Given the description of an element on the screen output the (x, y) to click on. 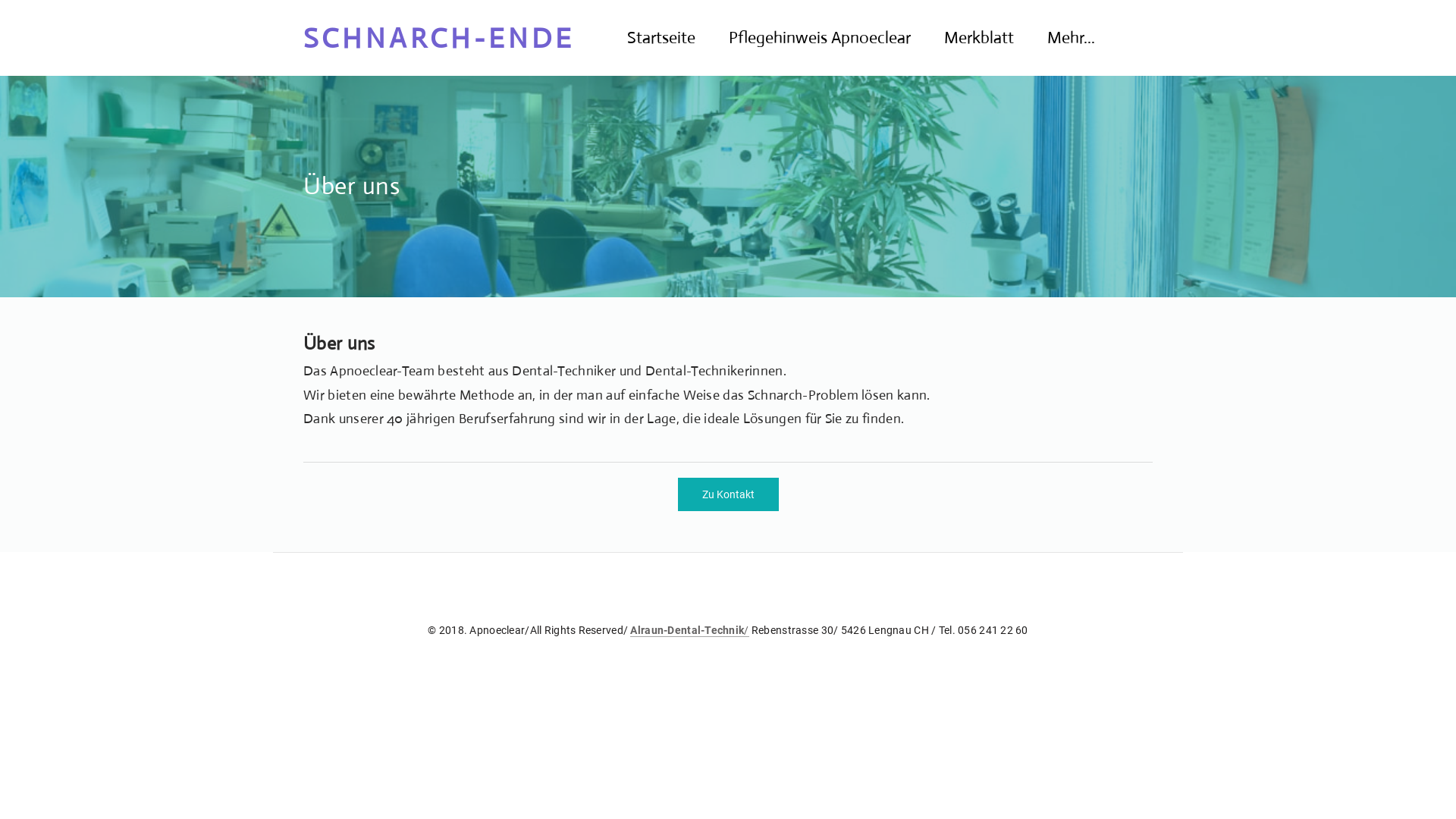
Startseite Element type: text (660, 37)
SCHNARCH-ENDE Element type: text (450, 37)
Alraun-Dental-Technik/ Element type: text (689, 629)
Pflegehinweis Apnoeclear Element type: text (819, 37)
Zu Kontakt Element type: text (727, 494)
Merkblatt Element type: text (978, 37)
Mehr... Element type: text (1071, 37)
